Given the description of an element on the screen output the (x, y) to click on. 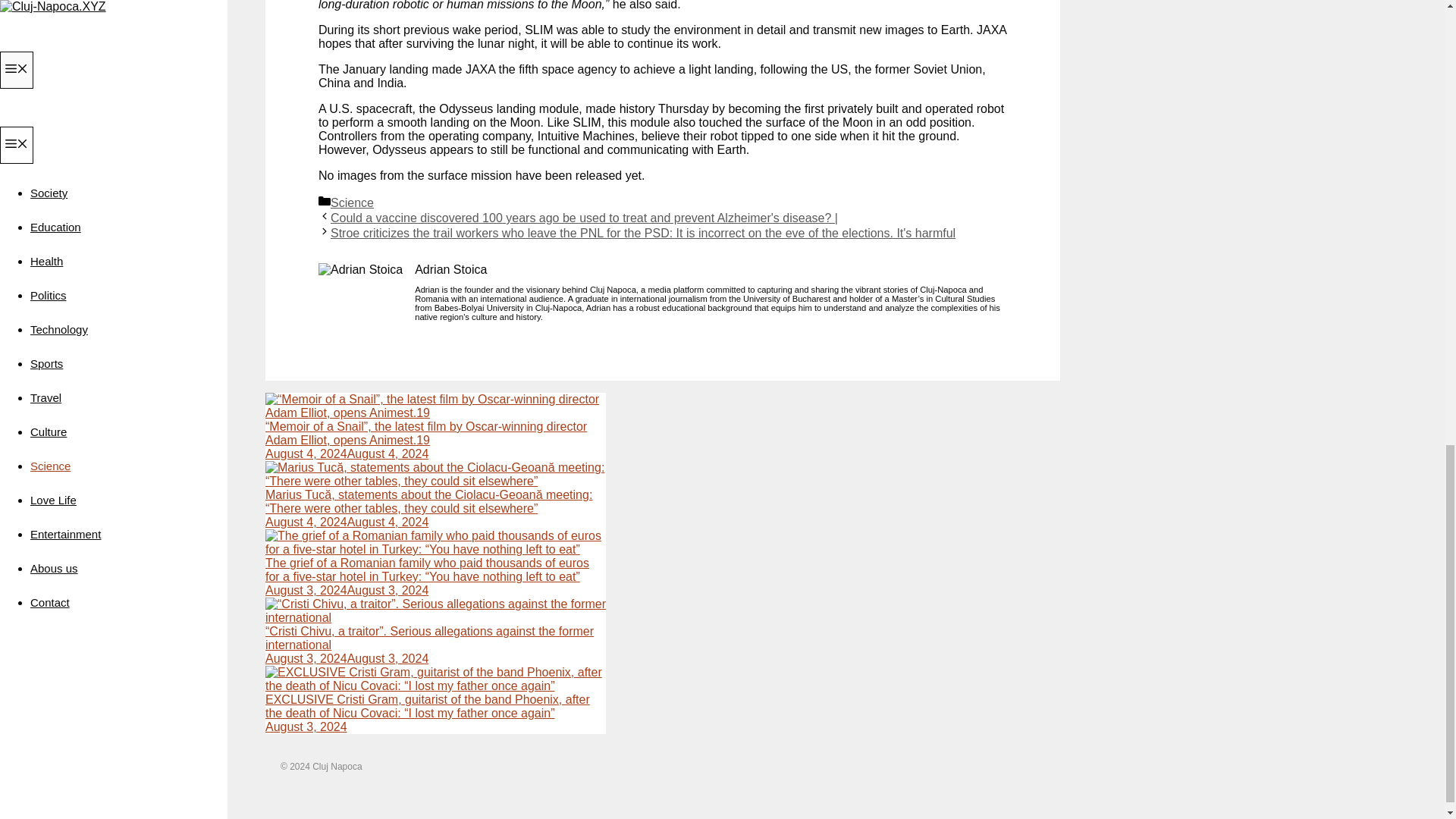
11:56 pm (346, 590)
Science (352, 202)
August 4, 2024August 4, 2024 (346, 453)
1:56 am (346, 521)
2:55 am (346, 453)
9:56 pm (305, 726)
10:55 pm (346, 658)
